Given the description of an element on the screen output the (x, y) to click on. 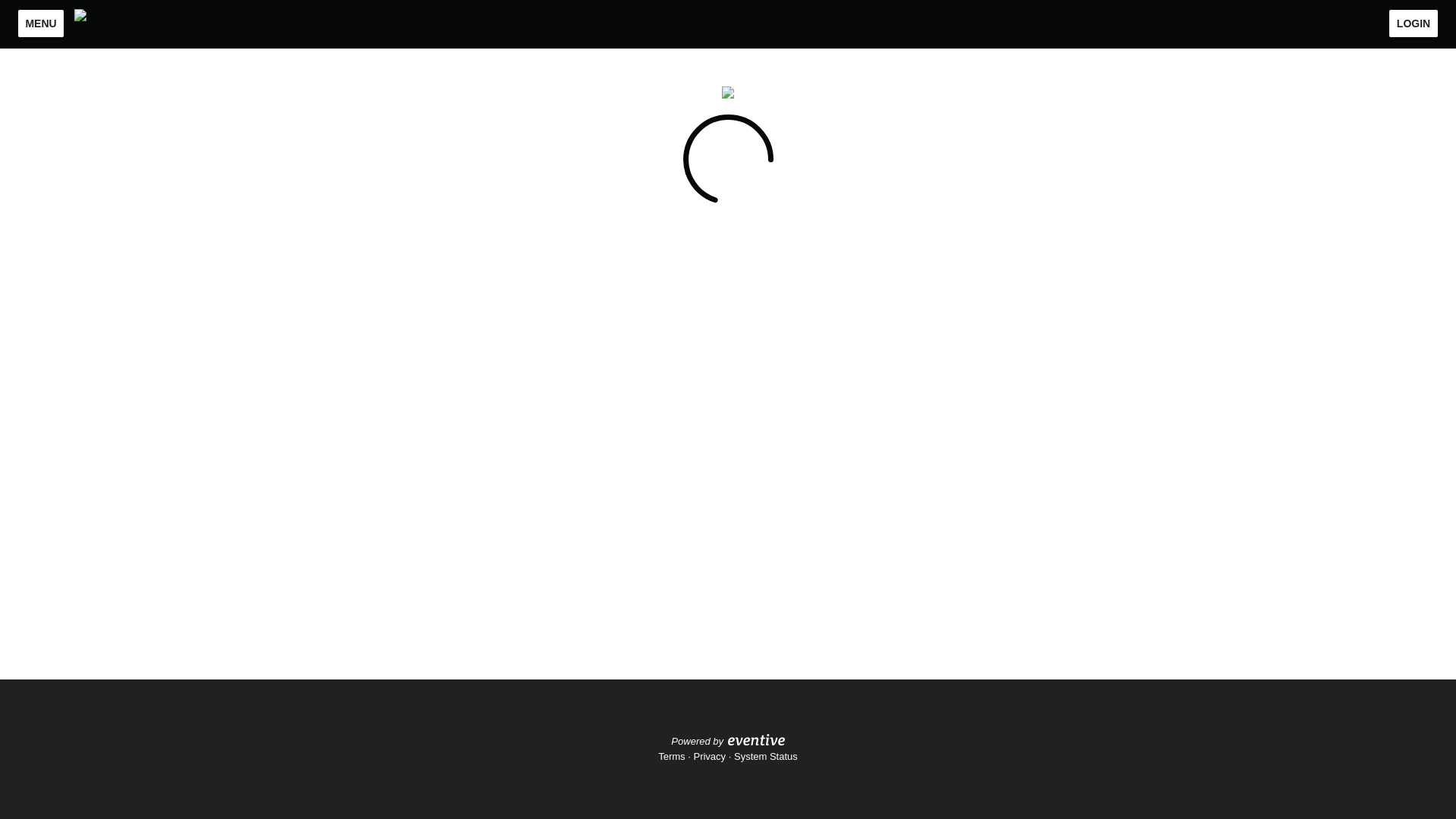
Powered by (727, 740)
LOGIN (1413, 22)
LOGIN (1413, 23)
Privacy (709, 756)
MENU (40, 22)
Terms (671, 756)
System Status (765, 756)
